Given the description of an element on the screen output the (x, y) to click on. 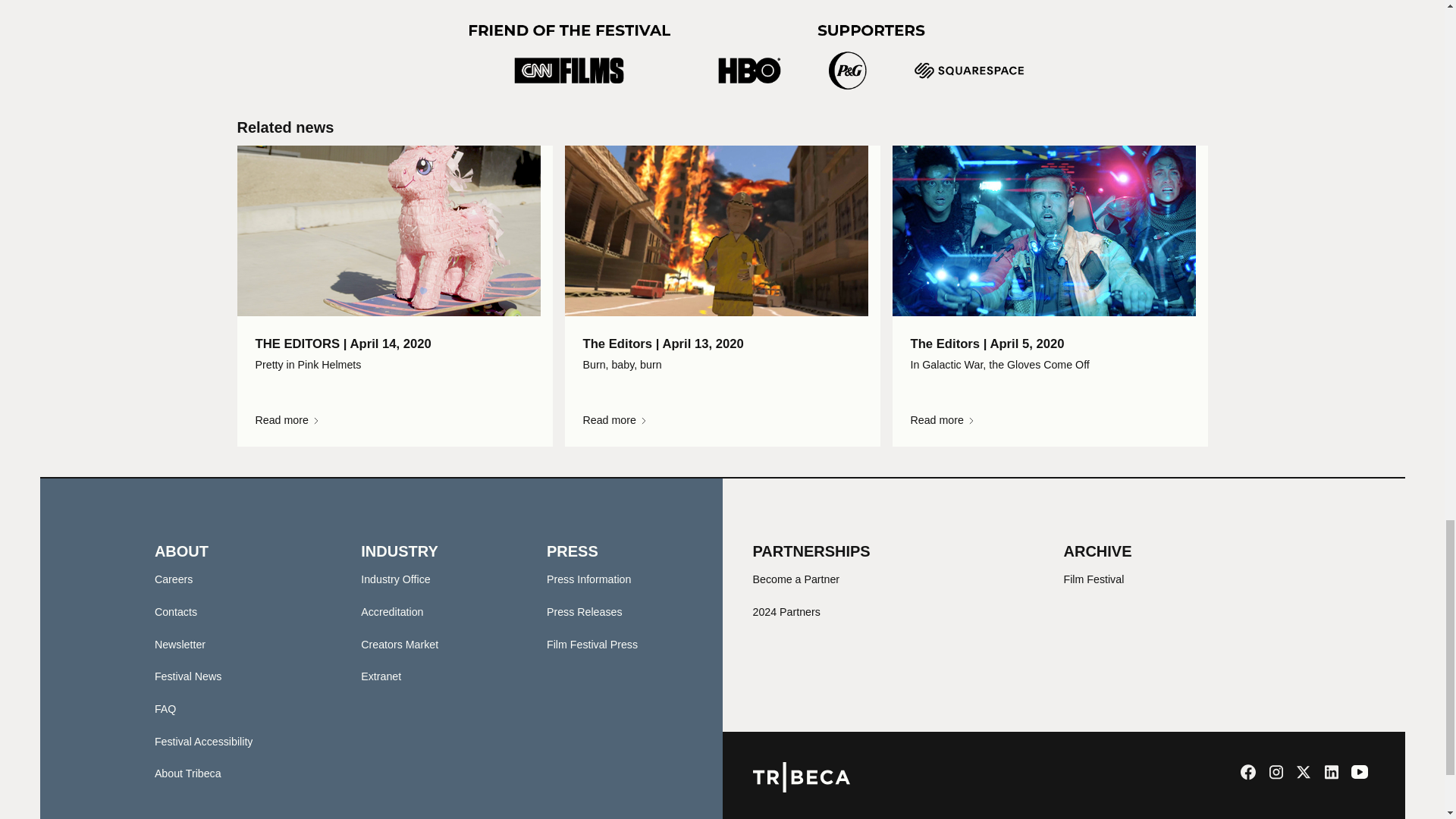
Careers (173, 579)
Festival News (188, 676)
Read more (1049, 420)
FAQ (165, 708)
Festival Accessibility (203, 741)
About Tribeca (187, 773)
Read more (721, 420)
Contacts (175, 612)
Read more (393, 420)
Newsletter (179, 644)
